Given the description of an element on the screen output the (x, y) to click on. 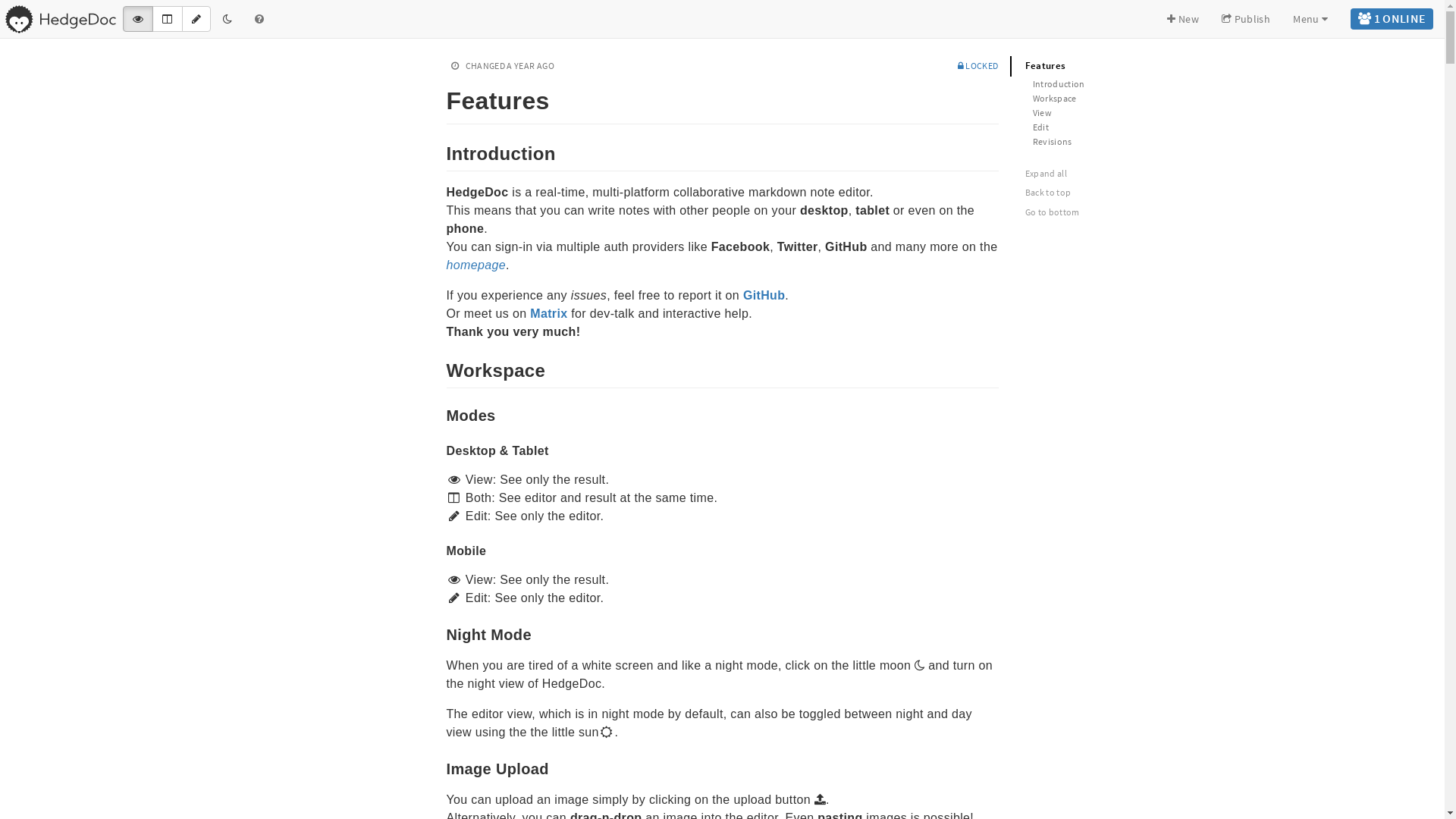
Matrix Element type: text (548, 313)
Back to top Element type: text (1115, 191)
GitHub Element type: text (763, 294)
HedgeDoc Element type: hover (60, 18)
View (Ctrl+Alt+V) Element type: hover (137, 18)
Mobile Element type: hover (437, 549)
Workspace Element type: hover (437, 368)
Edit Element type: text (1111, 126)
Edit (Ctrl+Alt+E) Element type: hover (196, 18)
homepage Element type: text (475, 264)
Menu Element type: text (1310, 18)
Night-Mode Element type: hover (437, 632)
LOCKED Element type: text (977, 65)
Workspace Element type: text (1111, 98)
1 ONLINE Element type: text (1391, 18)
Features Element type: text (1111, 66)
Publish Element type: text (1245, 18)
Desktop-amp-Tablet Element type: hover (437, 449)
Modes Element type: hover (437, 413)
Help Element type: hover (258, 18)
Features Element type: hover (437, 97)
Revisions Element type: text (1111, 141)
Both (Ctrl+Alt+B) Element type: hover (167, 18)
View Element type: text (1111, 112)
Night Theme Element type: hover (227, 18)
New Element type: text (1182, 18)
Expand all Element type: text (1115, 172)
Go to bottom Element type: text (1115, 211)
Introduction Element type: hover (437, 151)
Image-Upload Element type: hover (437, 767)
Introduction Element type: text (1111, 83)
